Given the description of an element on the screen output the (x, y) to click on. 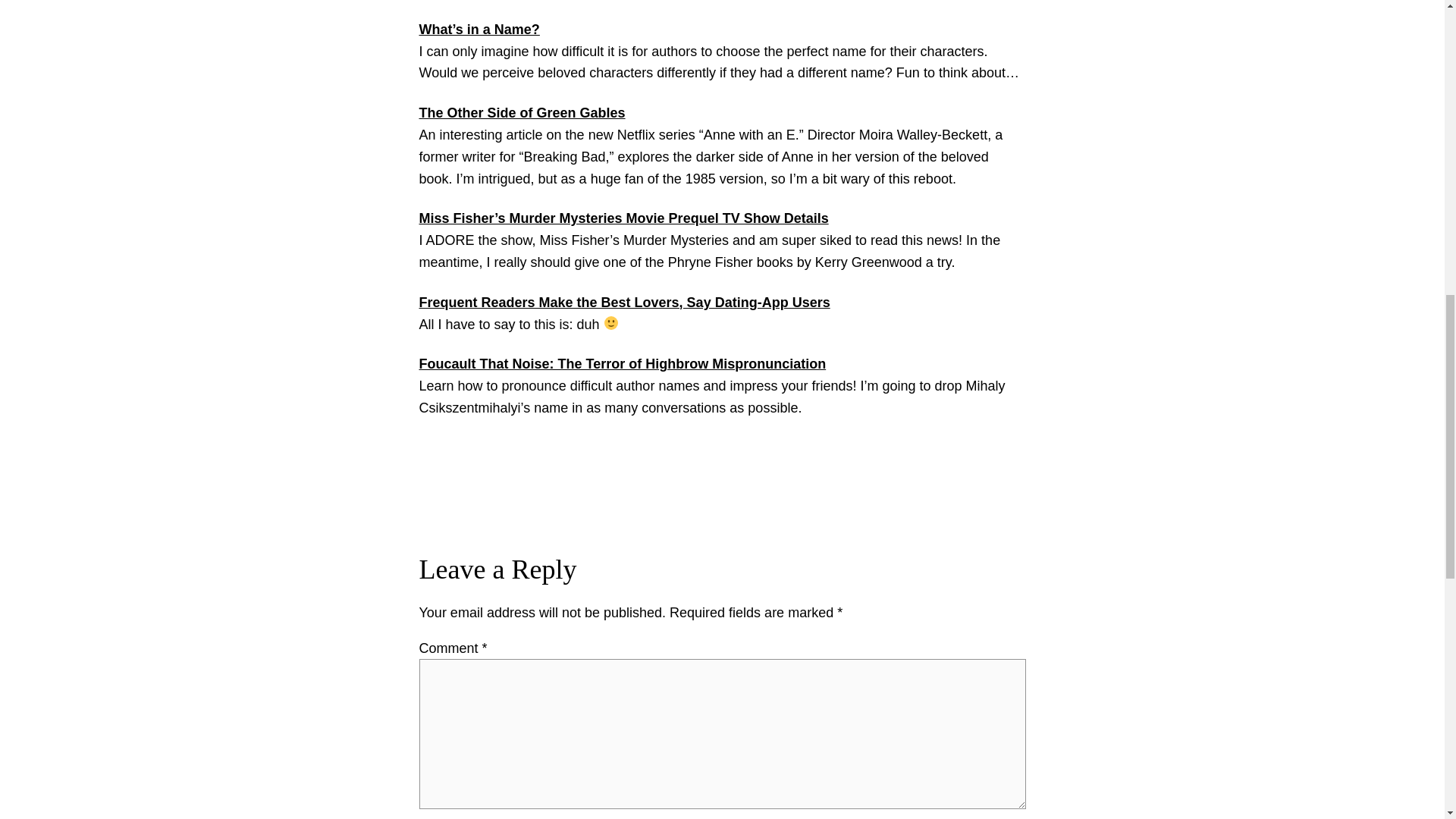
Foucault That Noise: The Terror of Highbrow Mispronunciation (622, 363)
The Other Side of Green Gables (521, 112)
Frequent Readers Make the Best Lovers, Say Dating-App Users (624, 302)
